Given the description of an element on the screen output the (x, y) to click on. 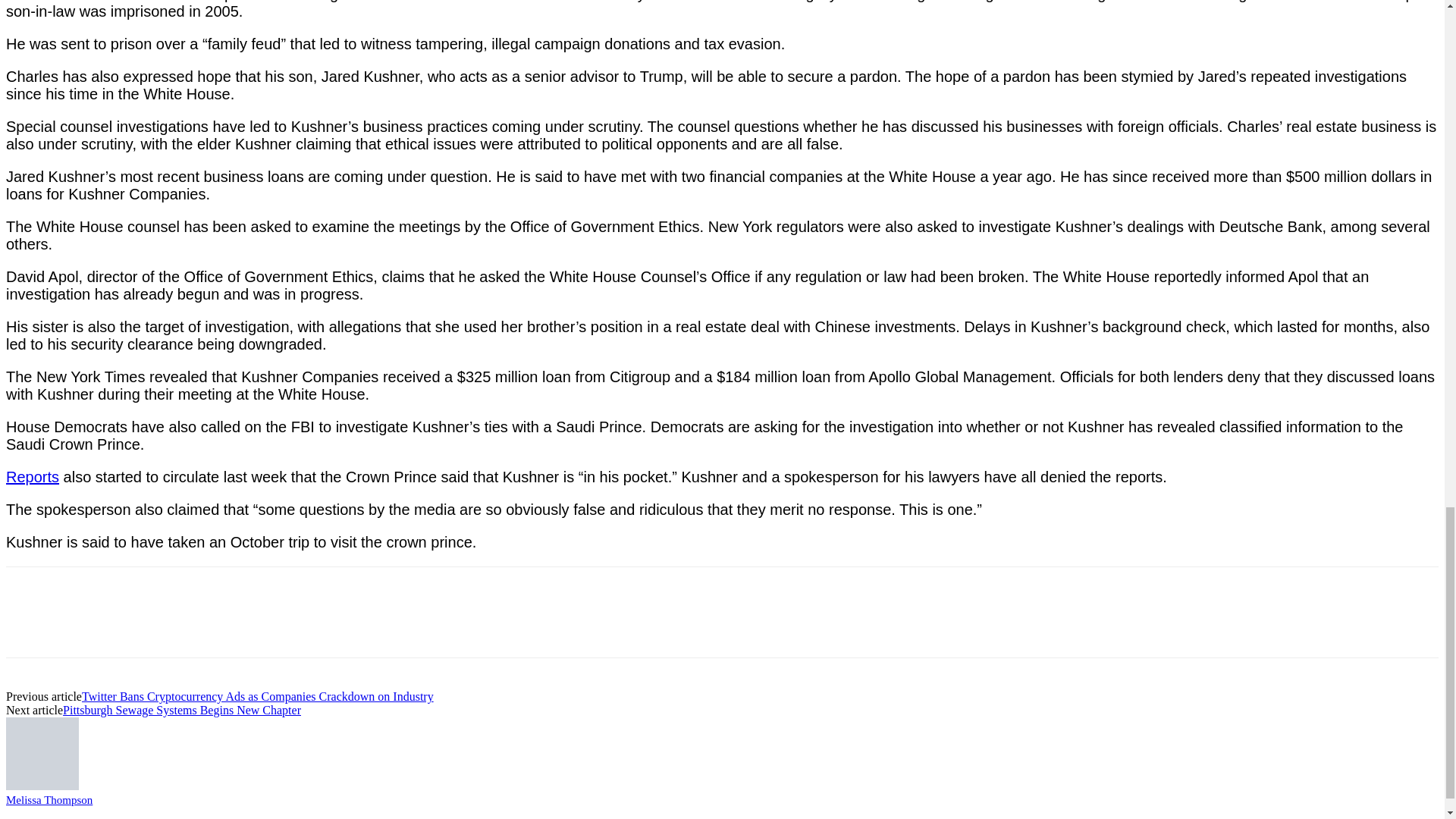
bottomFacebookLike (118, 590)
